Given the description of an element on the screen output the (x, y) to click on. 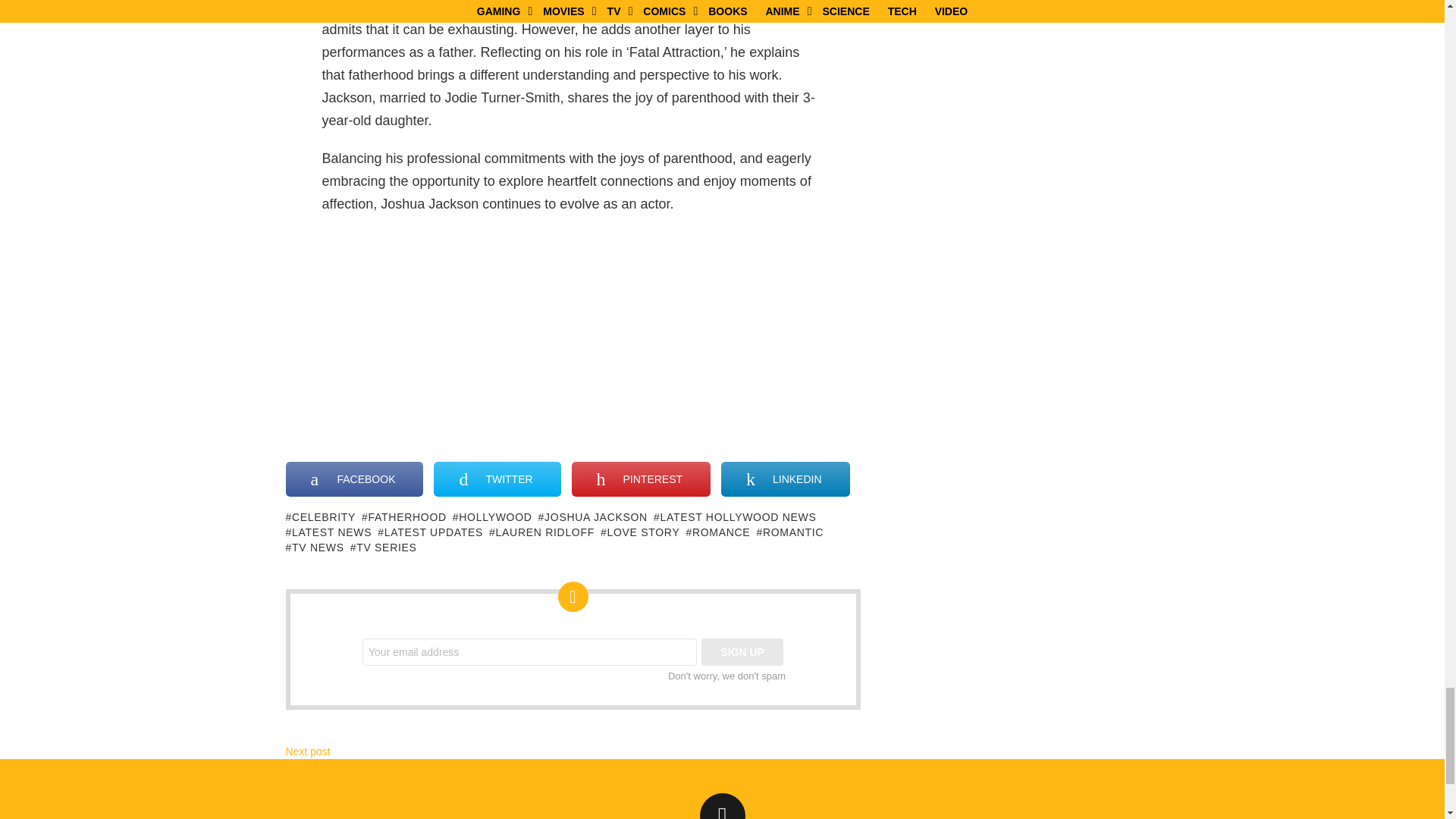
Share on Twitter (496, 478)
Share on Facebook (354, 478)
Sign up (742, 651)
